Given the description of an element on the screen output the (x, y) to click on. 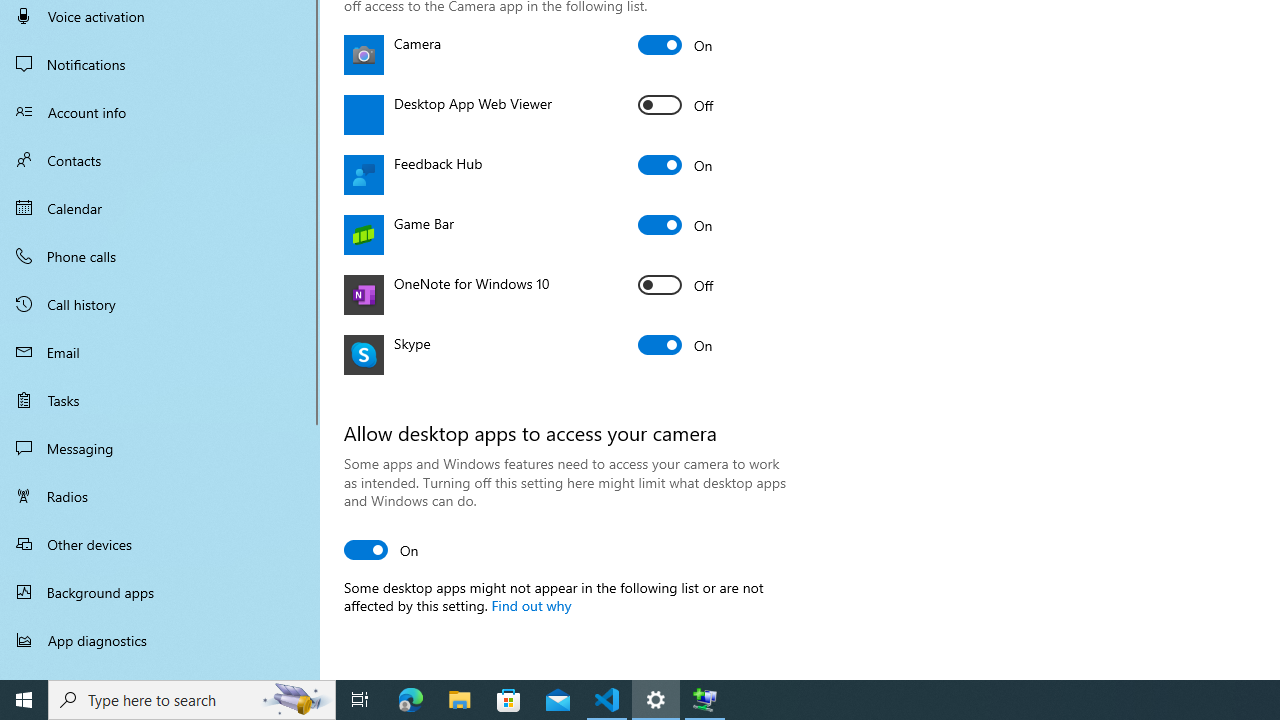
Automatic file downloads (160, 671)
